Given the description of an element on the screen output the (x, y) to click on. 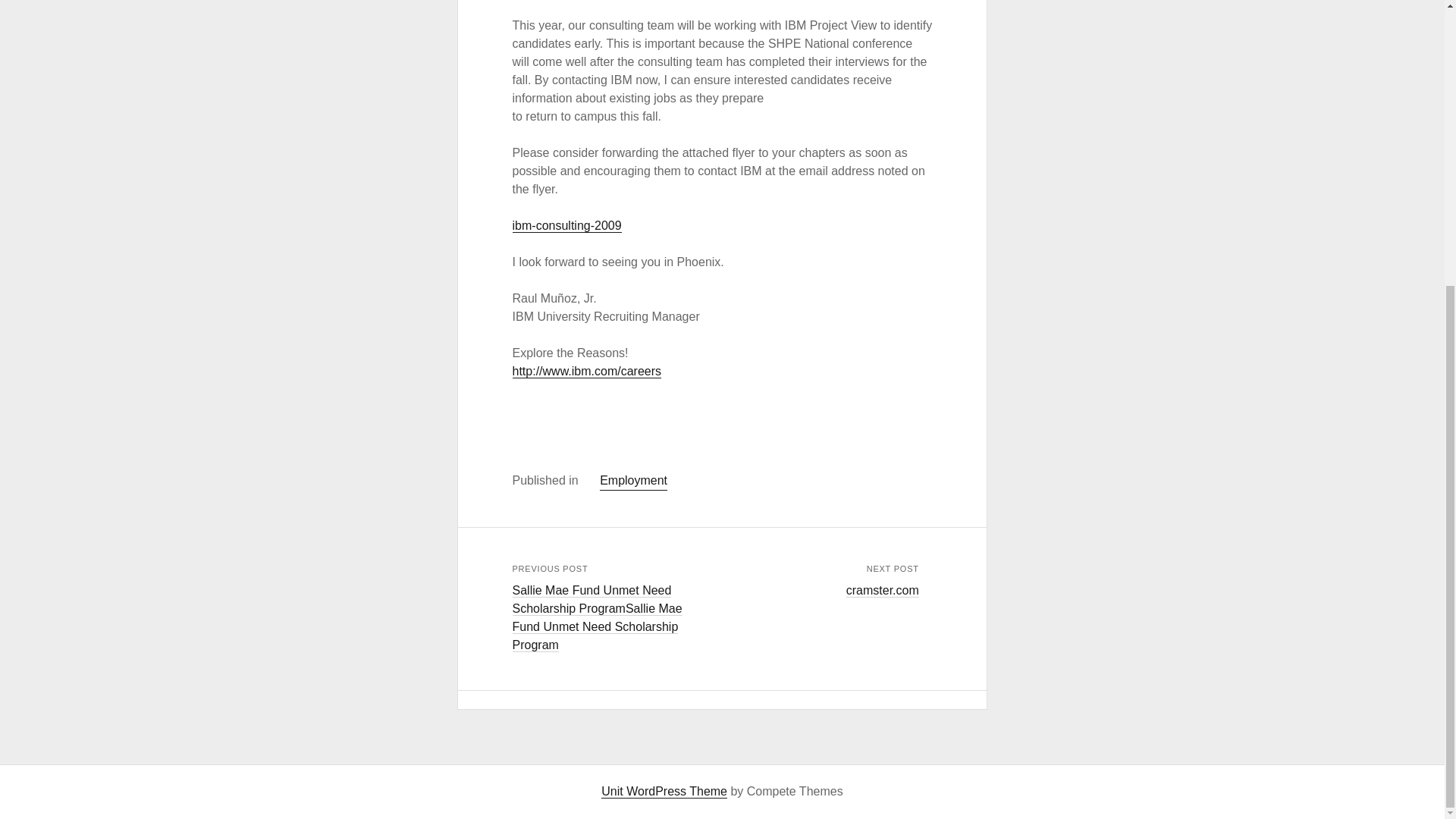
Unit WordPress Theme (663, 791)
cramster.com (881, 590)
View all posts in Employment (632, 480)
Employment (632, 480)
ibm-consulting-2009 (566, 225)
